Given the description of an element on the screen output the (x, y) to click on. 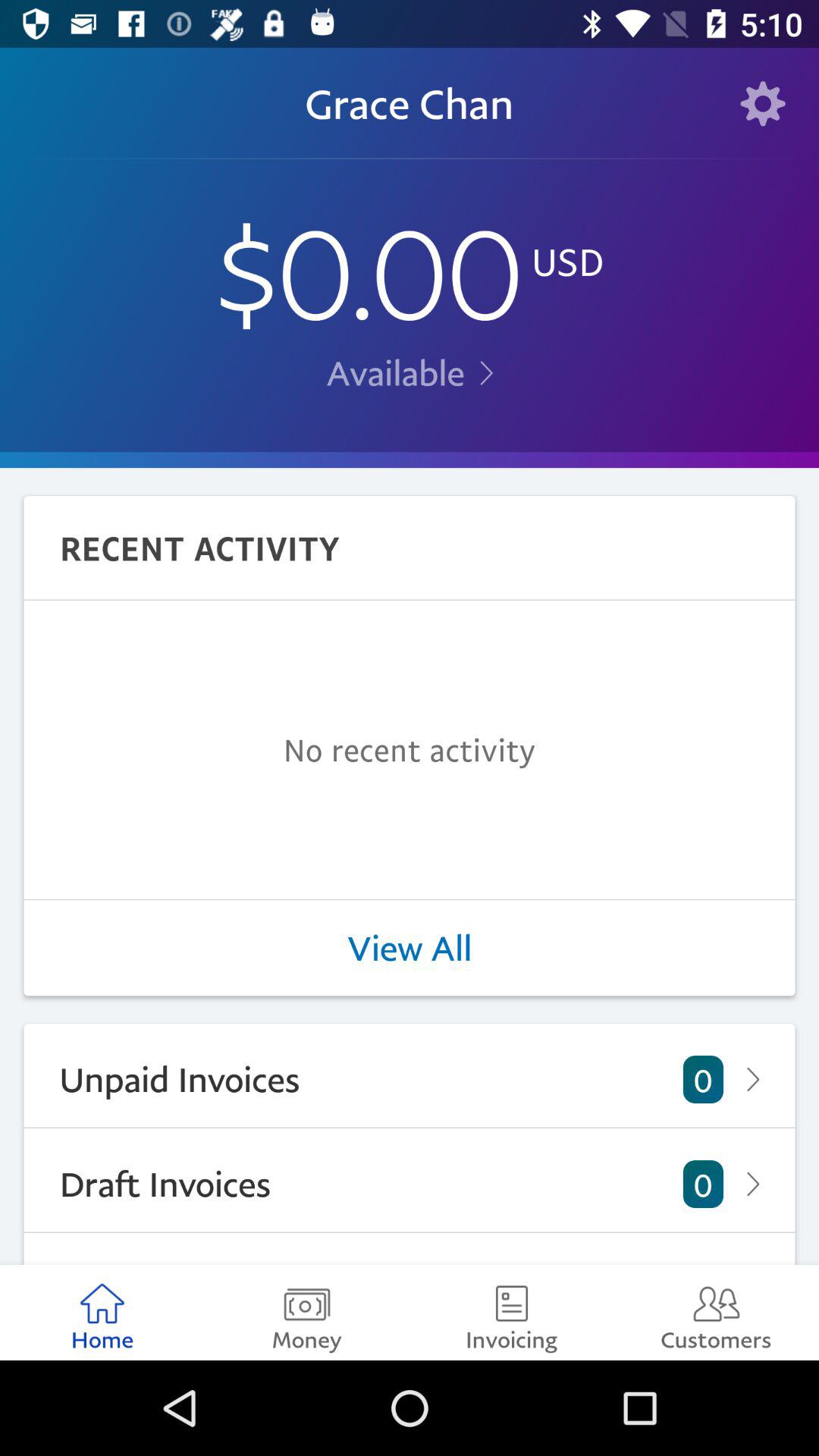
tap the view all item (409, 947)
